Given the description of an element on the screen output the (x, y) to click on. 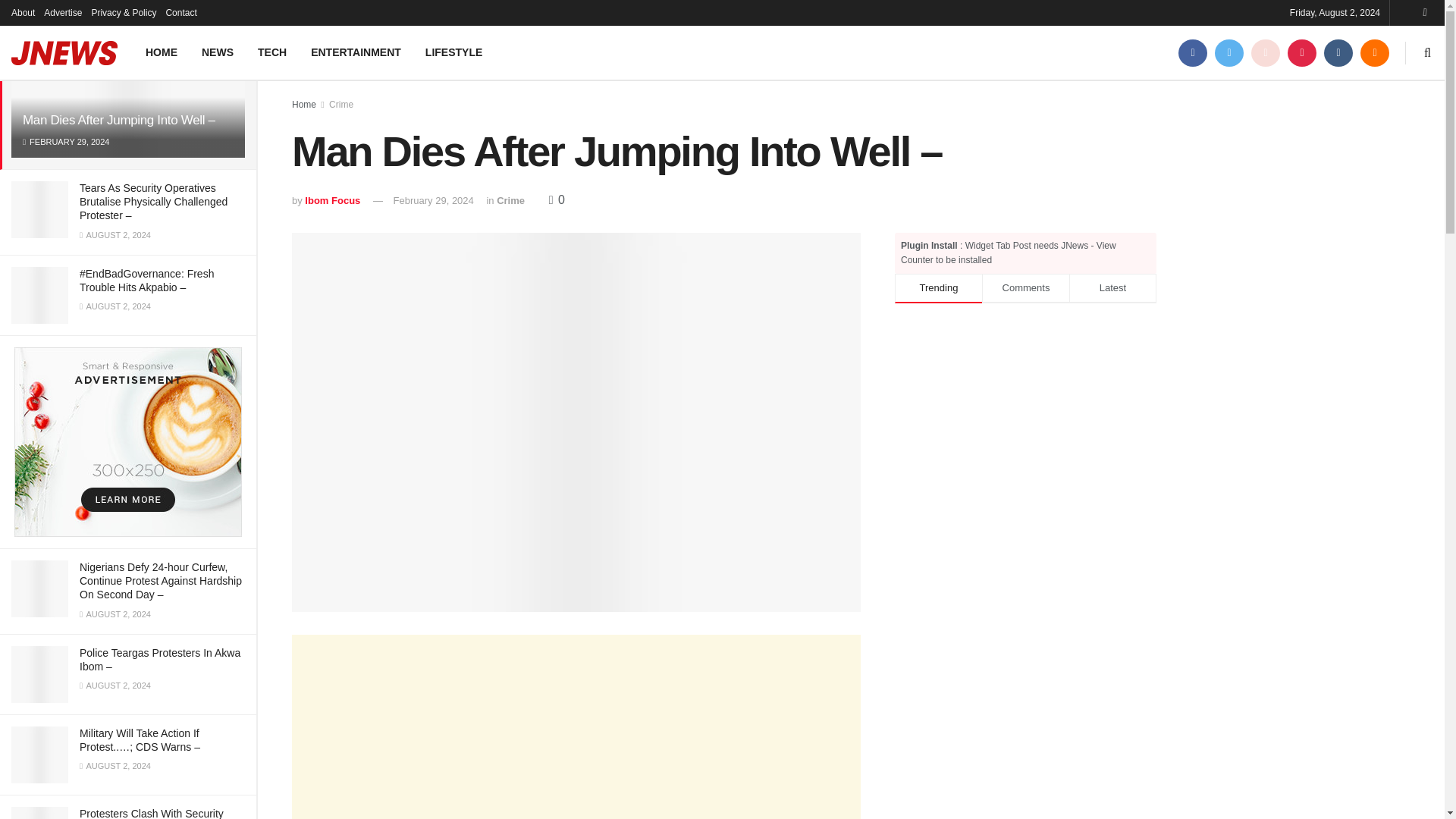
About (22, 12)
Filter (227, 13)
Advertise (62, 12)
